Given the description of an element on the screen output the (x, y) to click on. 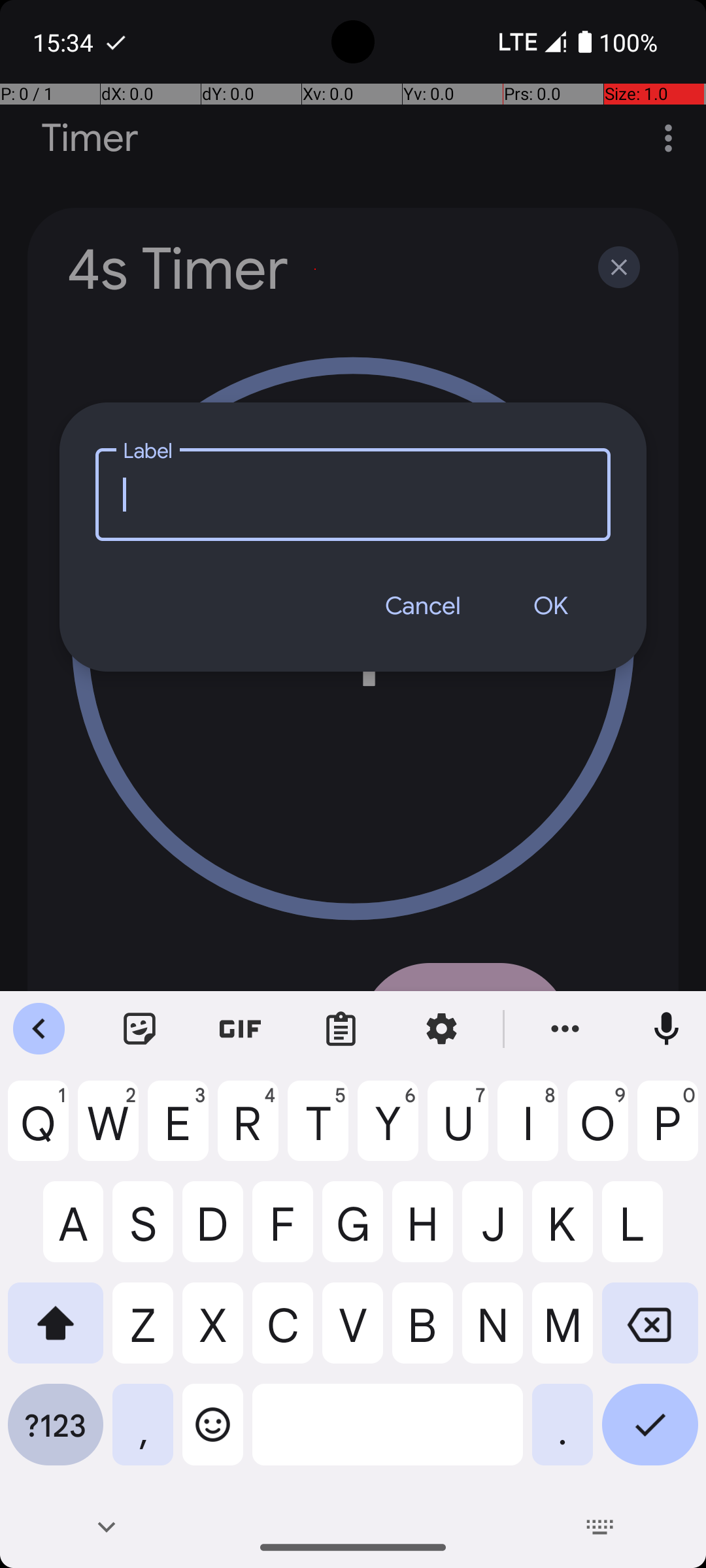
Label Element type: android.widget.EditText (352, 494)
